Given the description of an element on the screen output the (x, y) to click on. 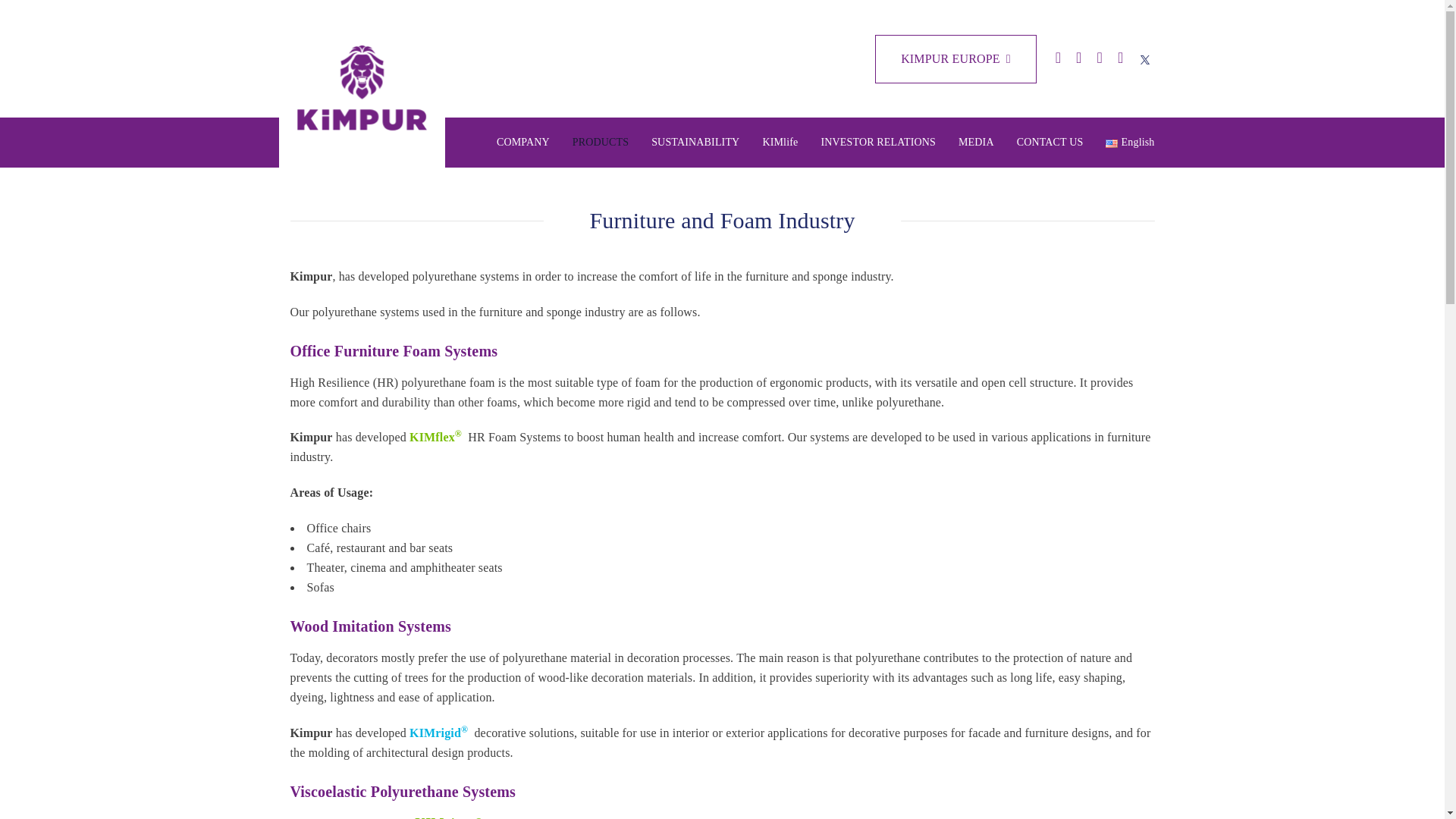
KIMPUR EUROPE (955, 59)
COMPANY (522, 142)
PRODUCTS (600, 142)
